Given the description of an element on the screen output the (x, y) to click on. 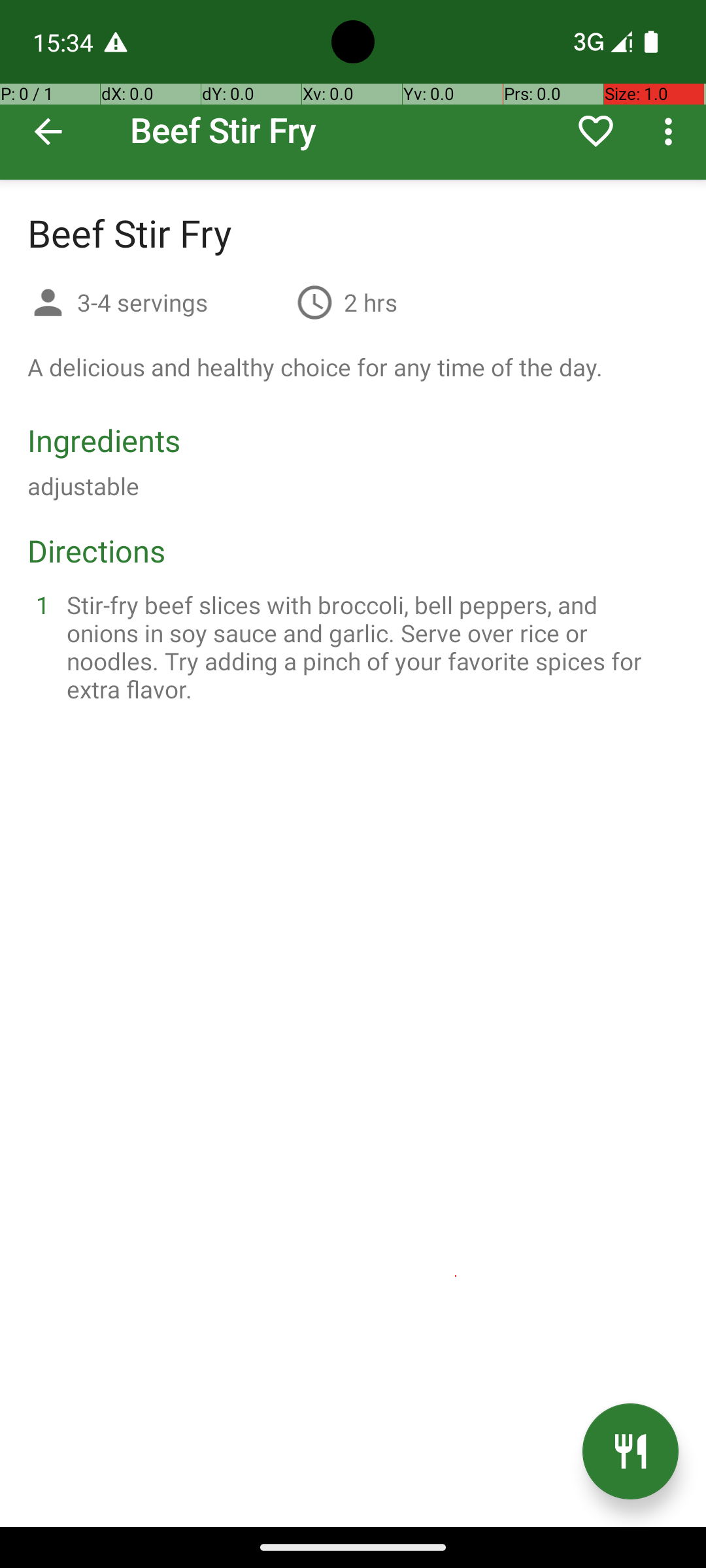
2 hrs Element type: android.widget.TextView (370, 301)
adjustable Element type: android.widget.TextView (83, 485)
Stir-fry beef slices with broccoli, bell peppers, and onions in soy sauce and garlic. Serve over rice or noodles. Try adding a pinch of your favorite spices for extra flavor. Element type: android.widget.TextView (368, 646)
